Given the description of an element on the screen output the (x, y) to click on. 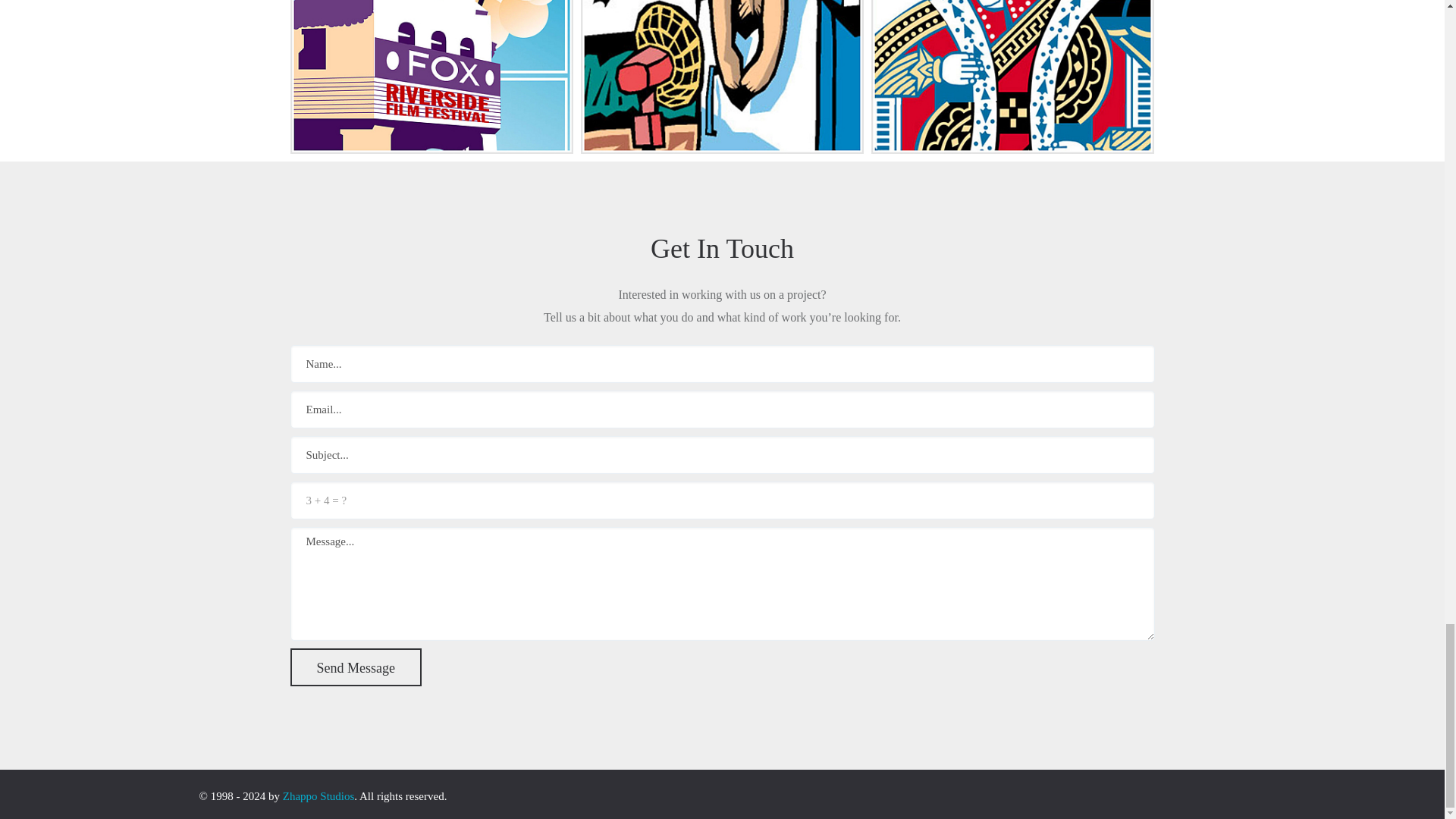
Subject... (721, 454)
Email... (721, 409)
Name... (721, 363)
